Given the description of an element on the screen output the (x, y) to click on. 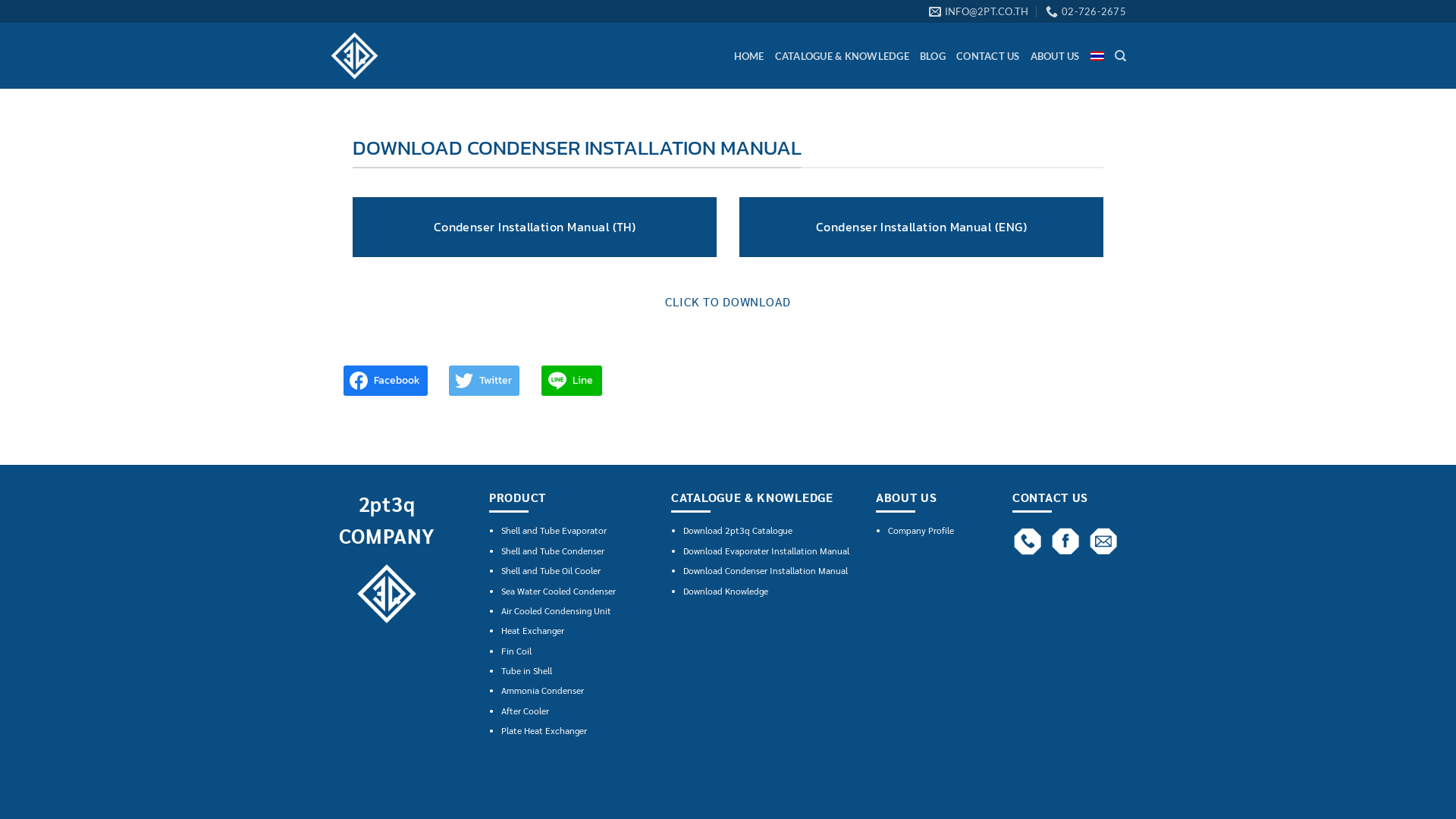
Condenser Installation Manual (TH) Element type: text (534, 227)
HOME Element type: text (749, 55)
Facebook Element type: text (385, 380)
2pt3q - Just another WordPress site Element type: hover (429, 55)
Twitter Element type: text (483, 380)
ABOUT US Element type: text (1054, 55)
02-726-2675 Element type: text (1085, 11)
Download 2pt3q Catalogue Element type: text (737, 530)
BLOG Element type: text (932, 55)
Download Knowledge Element type: text (725, 590)
CATALOGUE & KNOWLEDGE Element type: text (842, 55)
Line Element type: text (571, 380)
INFO@2PT.CO.TH Element type: text (978, 11)
CONTACT US Element type: text (987, 55)
Download Evaporater Installation Manual Element type: text (766, 550)
Condenser Installation Manual (ENG) Element type: text (921, 227)
Download Condenser Installation Manual Element type: text (765, 570)
Company Profile Element type: text (920, 530)
